Given the description of an element on the screen output the (x, y) to click on. 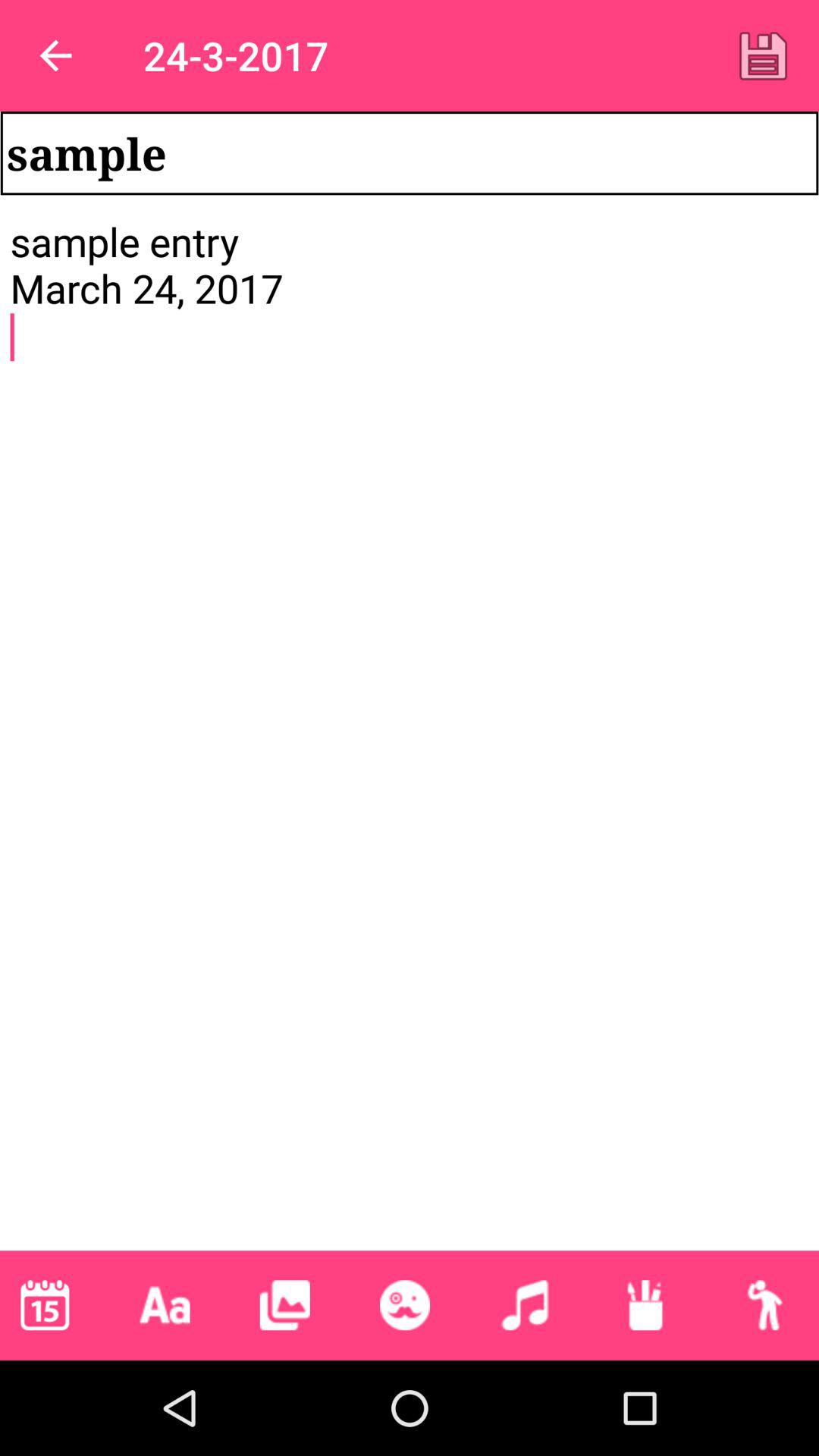
choose the icon below sample entry march (764, 1305)
